Given the description of an element on the screen output the (x, y) to click on. 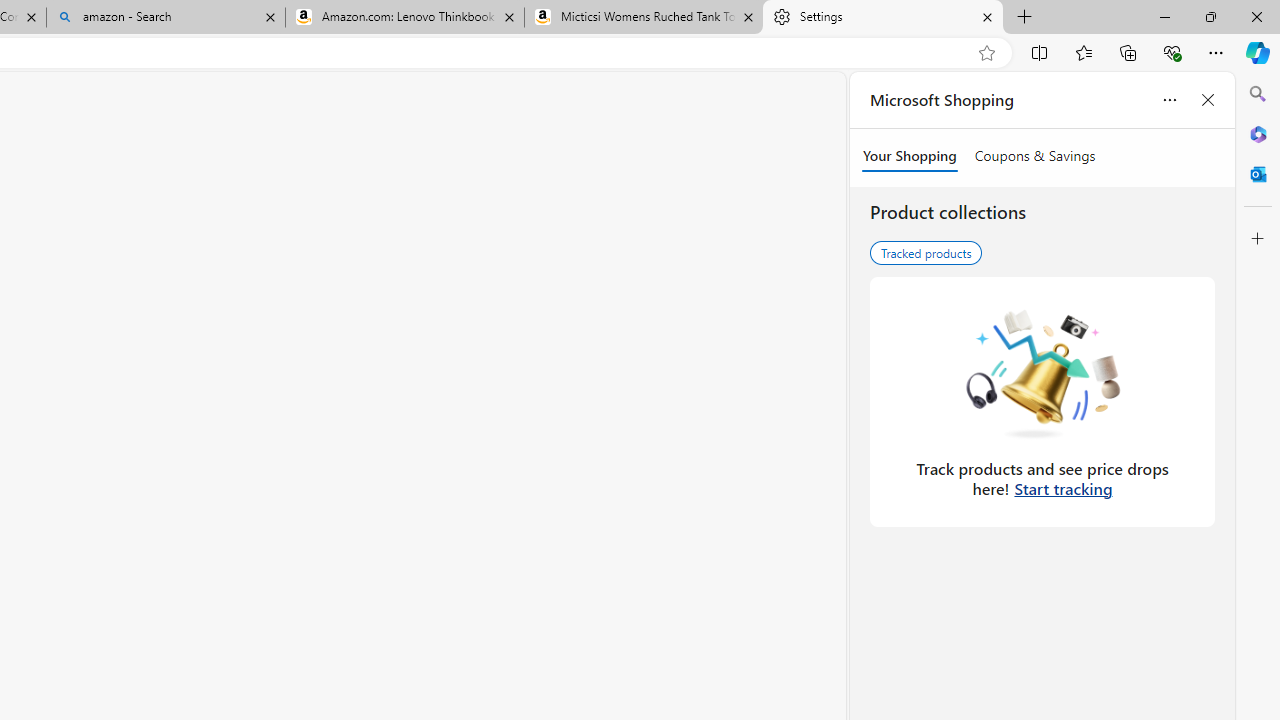
amazon - Search (166, 17)
